Given the description of an element on the screen output the (x, y) to click on. 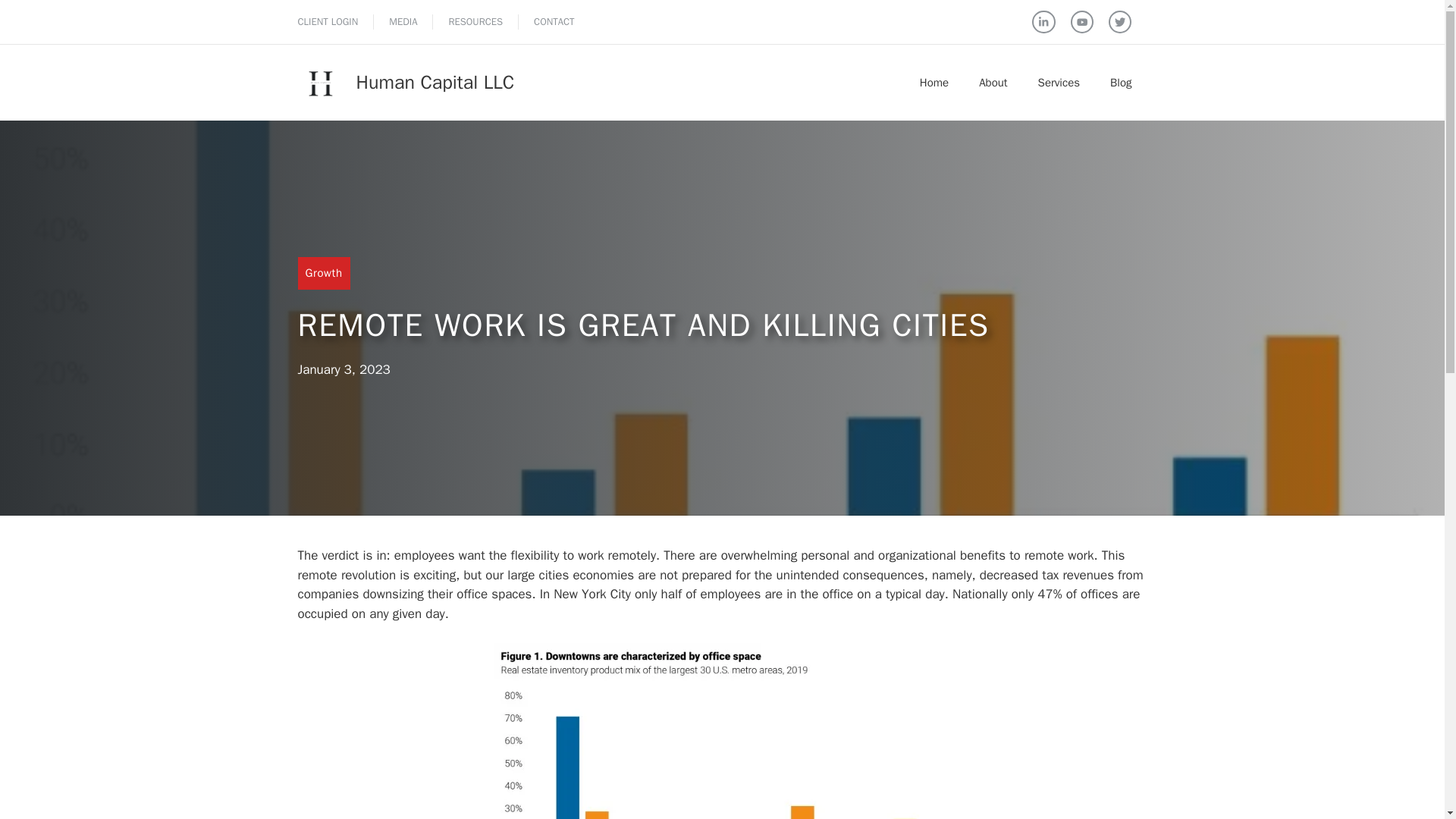
MEDIA (402, 21)
Growth (323, 273)
Human Capital LLC (435, 82)
Home (933, 82)
CLIENT LOGIN (327, 21)
About (992, 82)
Services (1058, 82)
RESOURCES (475, 21)
CONTACT (554, 21)
Blog (1120, 82)
